Given the description of an element on the screen output the (x, y) to click on. 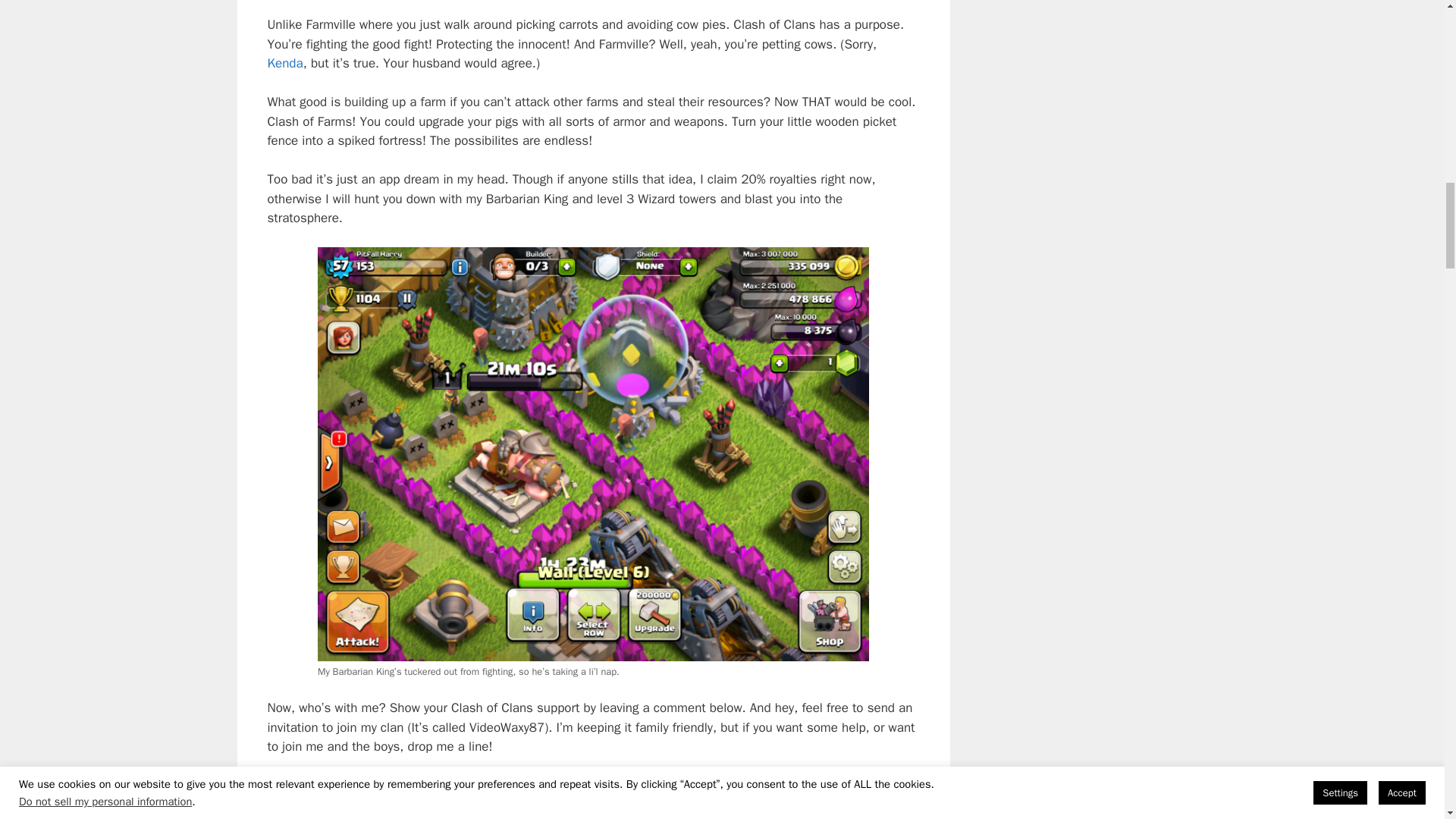
Twitter (689, 817)
Download Clash of Clans (592, 785)
Facebook (635, 817)
Kenda (284, 63)
